Given the description of an element on the screen output the (x, y) to click on. 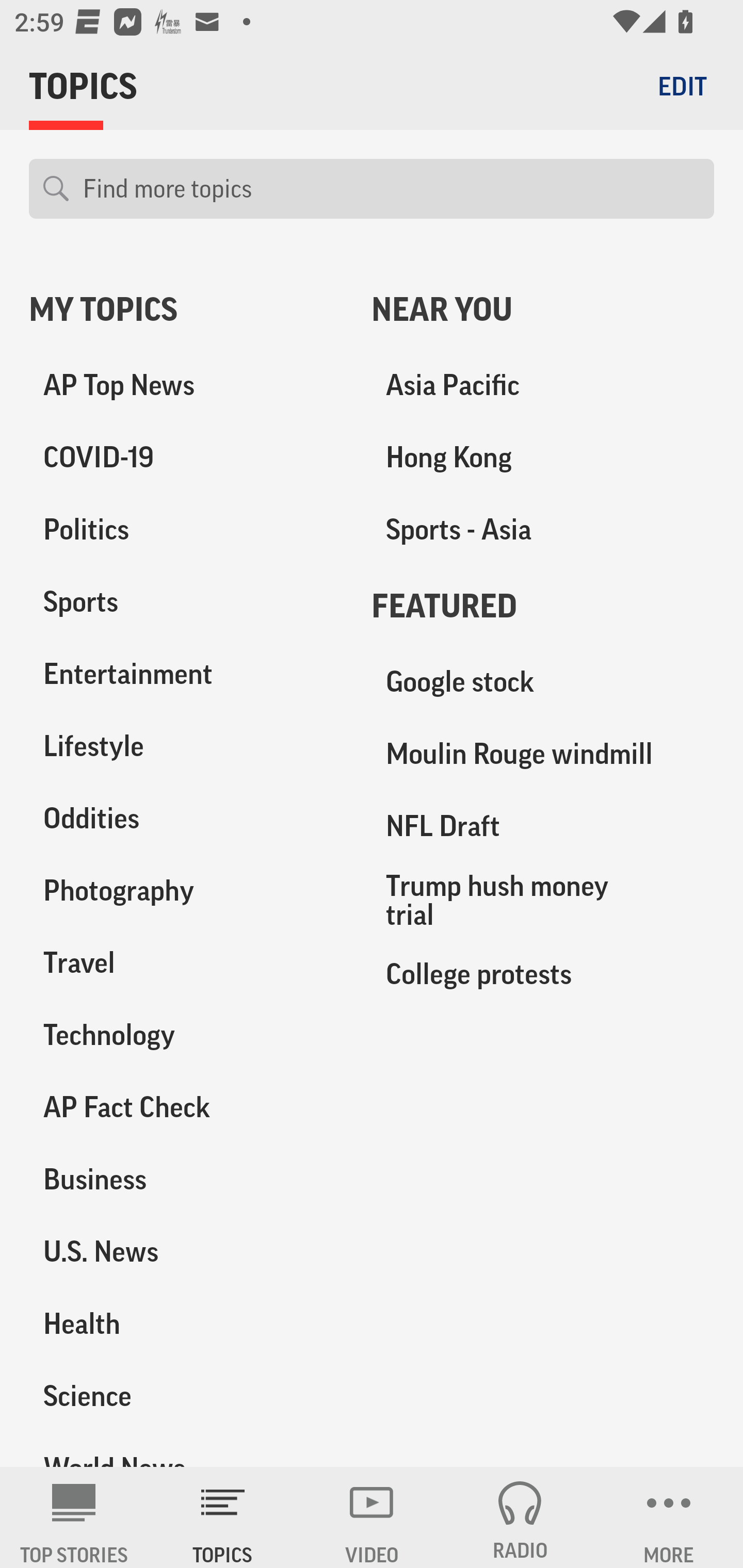
EDIT (682, 86)
Find more topics (391, 188)
AP Top News (185, 385)
Asia Pacific (542, 385)
COVID-19 (185, 457)
Hong Kong (542, 457)
Politics (185, 529)
Sports - Asia (542, 529)
Sports (185, 602)
Entertainment (185, 674)
Google stock (542, 682)
Lifestyle (185, 746)
Moulin Rouge windmill (542, 754)
Oddities (185, 818)
NFL Draft (542, 826)
Photography (185, 890)
Trump hush money trial (542, 899)
Travel (185, 962)
College protests (542, 973)
Technology (185, 1034)
AP Fact Check (185, 1106)
Business (185, 1179)
U.S. News (185, 1251)
Health (185, 1323)
Science (185, 1395)
AP News TOP STORIES (74, 1517)
TOPICS (222, 1517)
VIDEO (371, 1517)
RADIO (519, 1517)
MORE (668, 1517)
